Given the description of an element on the screen output the (x, y) to click on. 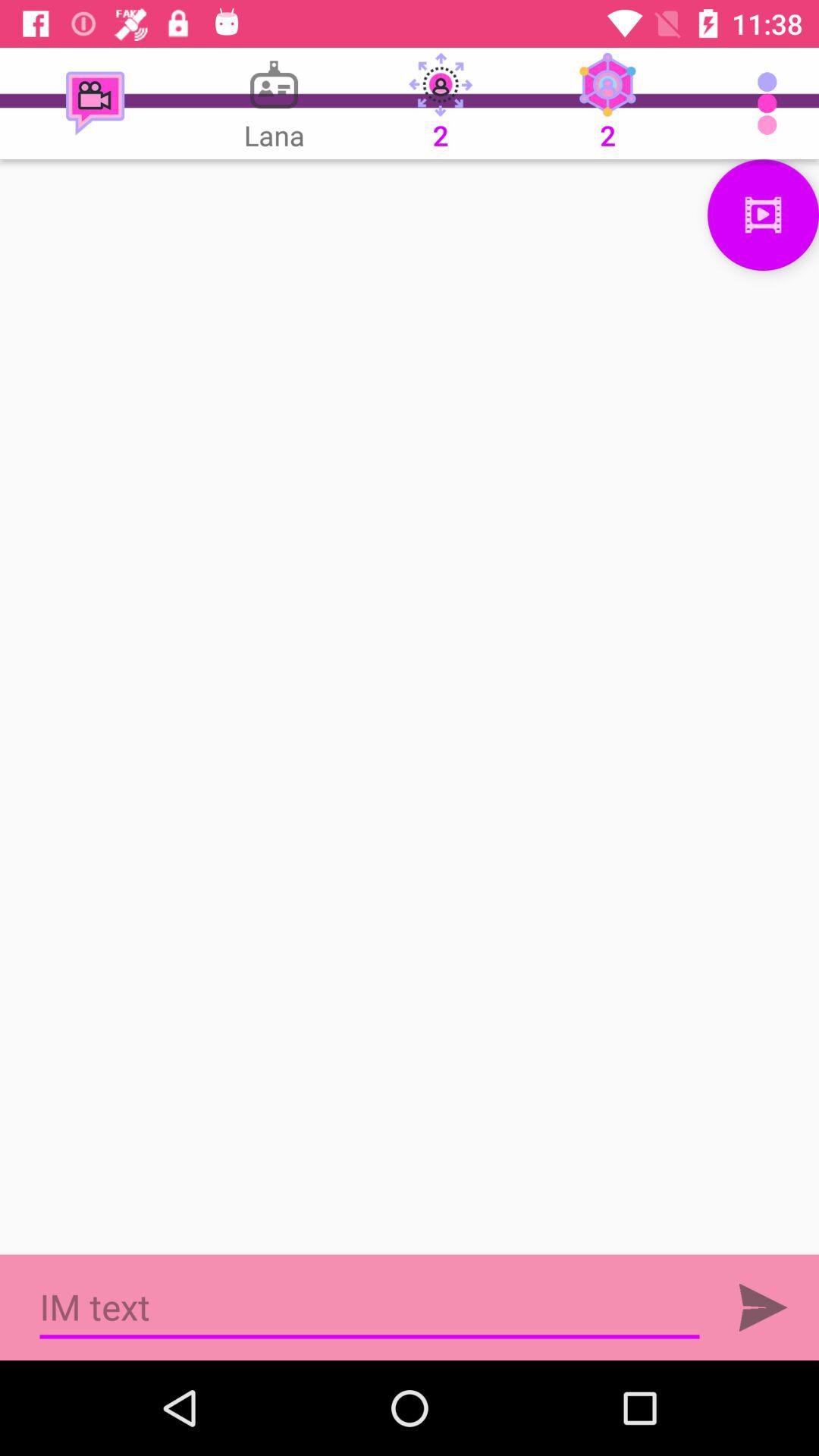
im text (369, 1307)
